Given the description of an element on the screen output the (x, y) to click on. 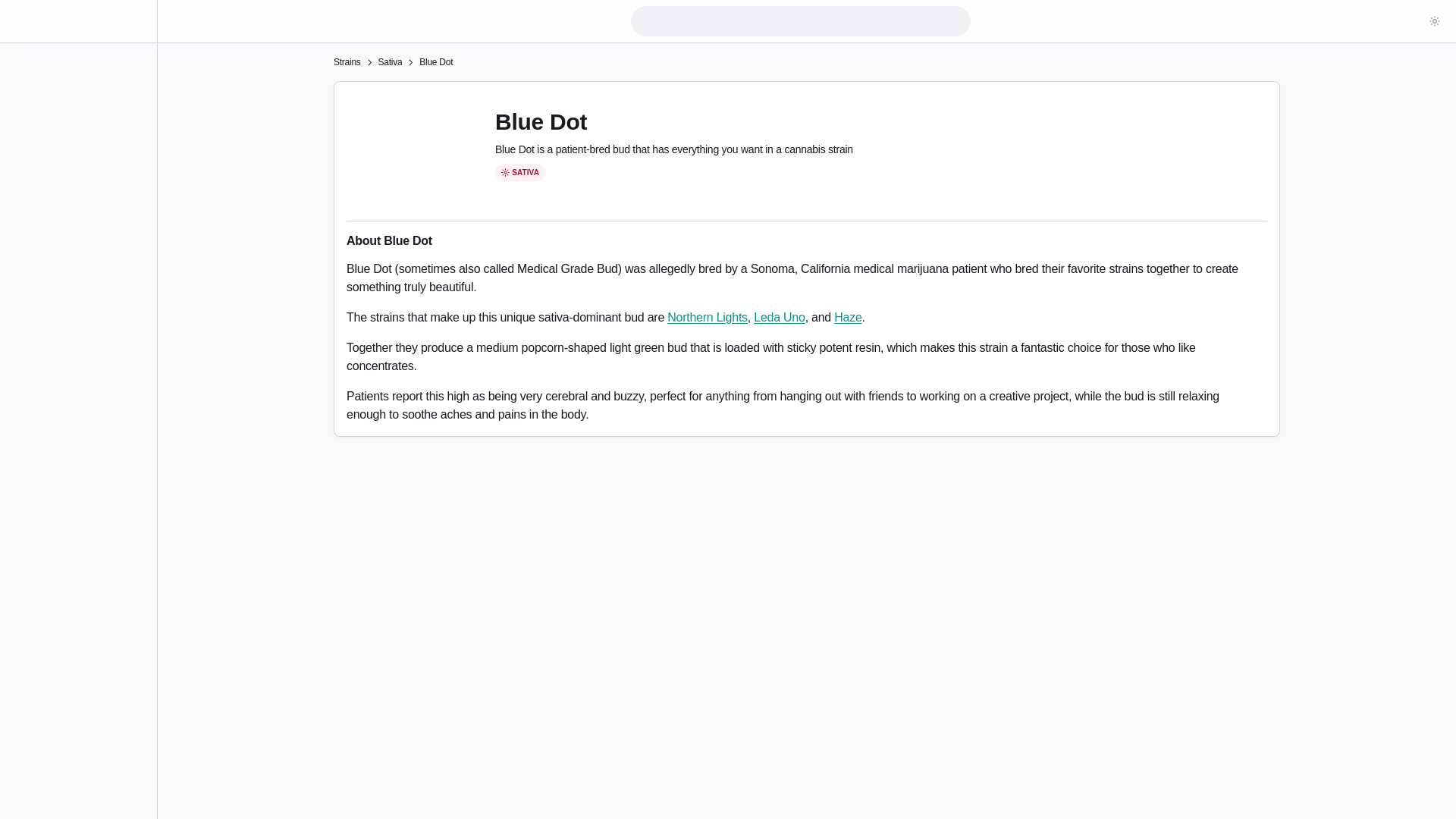
Haze (847, 317)
Leda Uno (779, 317)
SATIVA (519, 172)
Strains (347, 61)
Northern Lights (707, 317)
Sativa (389, 61)
